Given the description of an element on the screen output the (x, y) to click on. 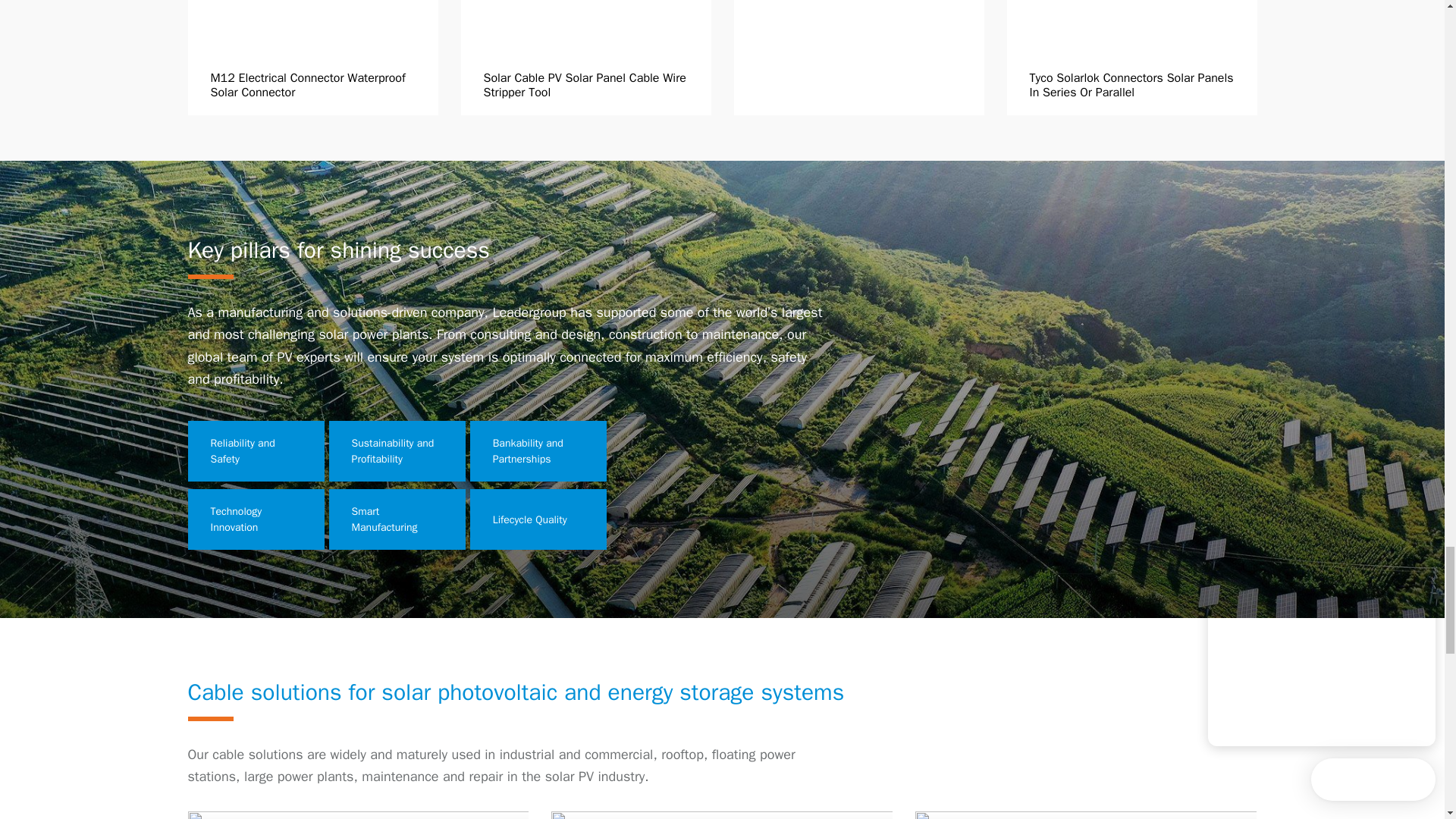
Tyco Solarlok Connectors Solar Panels In Series Or Parallel (1132, 57)
250V M14 5 Wire Waterproof Cable Connector (858, 57)
Solar Cable PV Solar Panel Cable Wire Stripper Tool (586, 57)
M12 Electrical Connector Waterproof Solar Connector (312, 57)
